Given the description of an element on the screen output the (x, y) to click on. 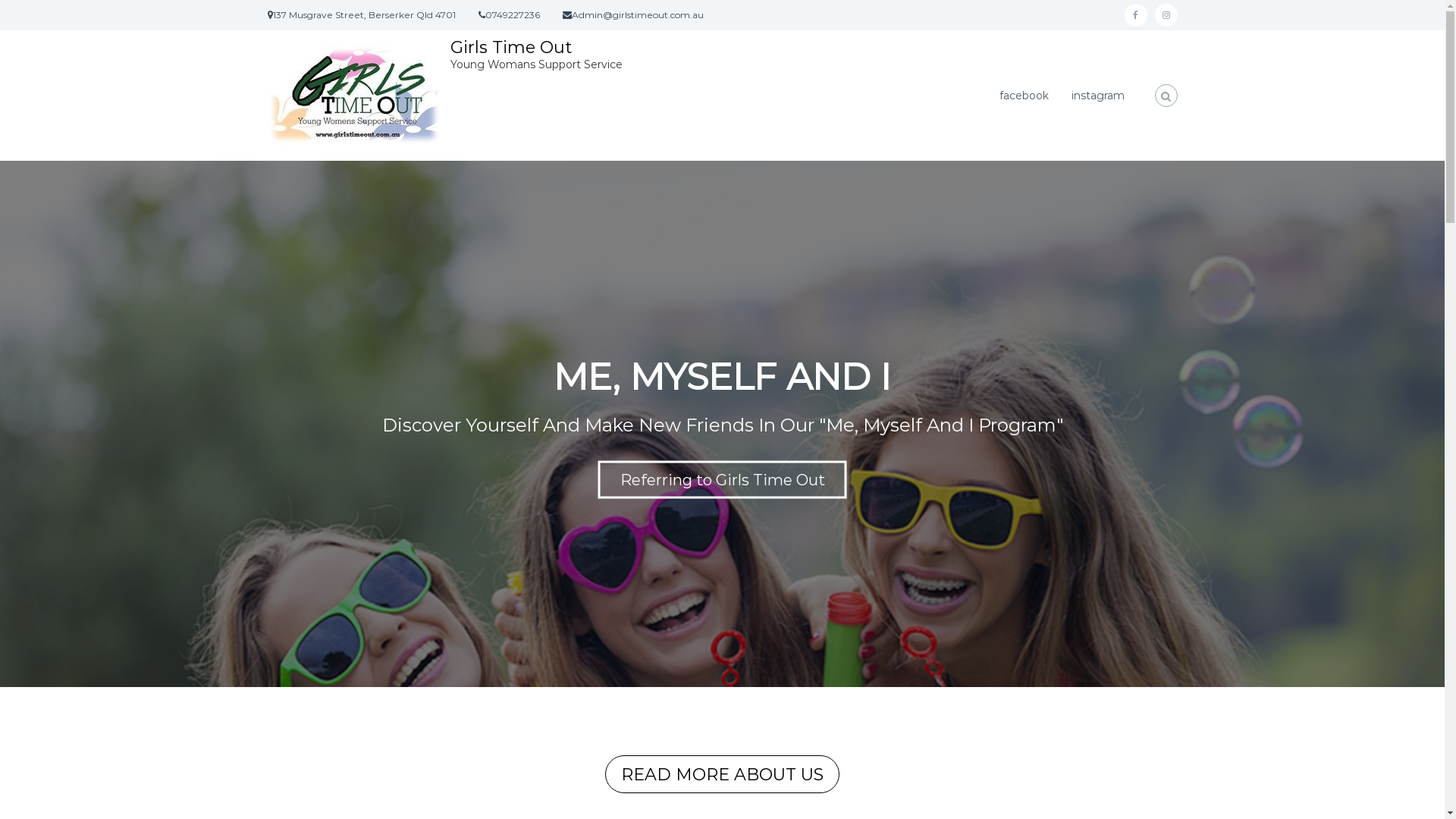
Girls Time Out Element type: text (510, 47)
facebook Element type: text (1023, 94)
facebook Element type: text (1134, 14)
Referring to Girls Time Out Element type: text (721, 479)
instagram Element type: text (1165, 14)
instagram Element type: text (1096, 94)
READ MORE ABOUT US Element type: text (722, 774)
Me, Myself and I Element type: hover (722, 423)
